Given the description of an element on the screen output the (x, y) to click on. 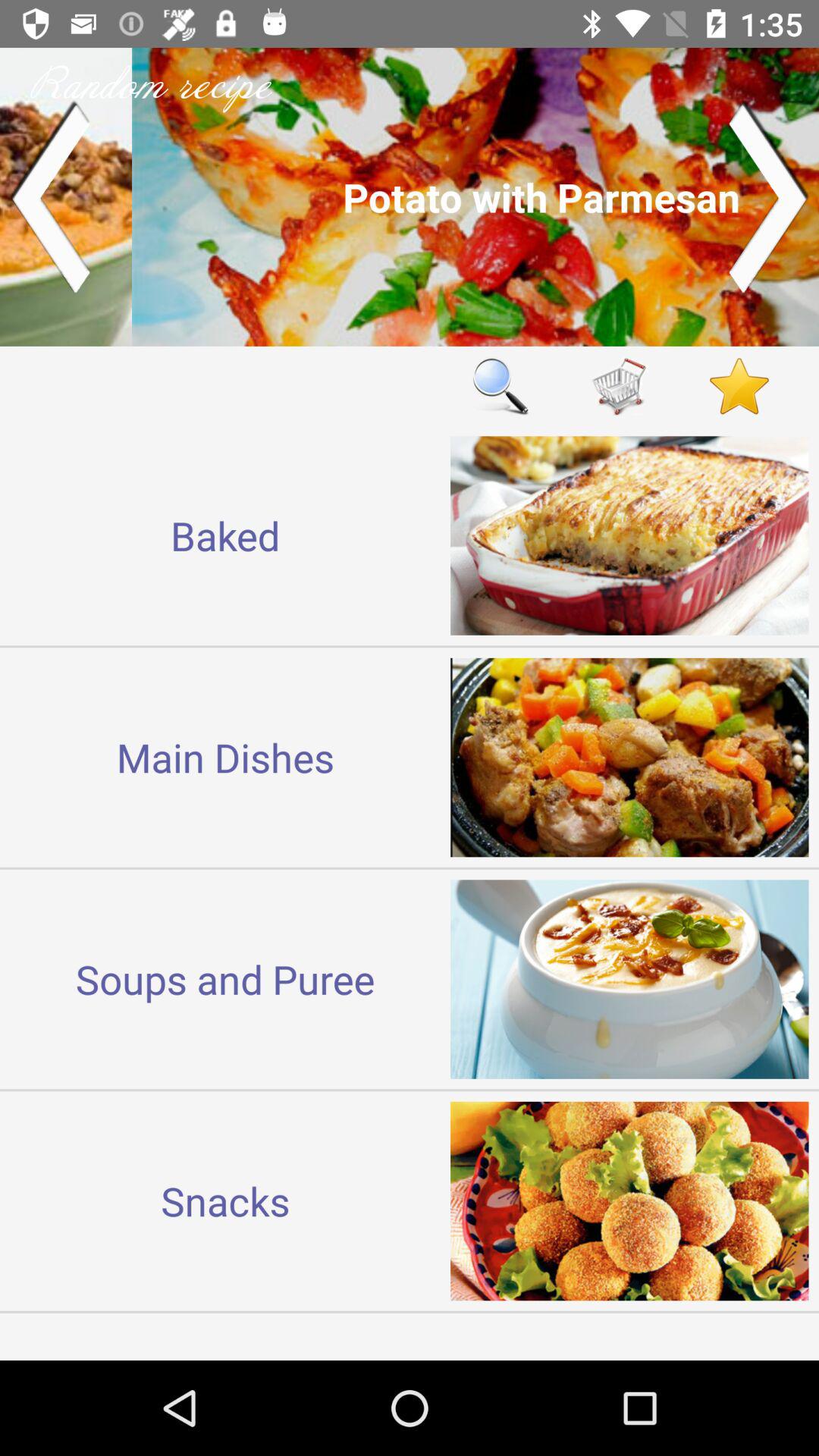
jump until the baked item (225, 534)
